Given the description of an element on the screen output the (x, y) to click on. 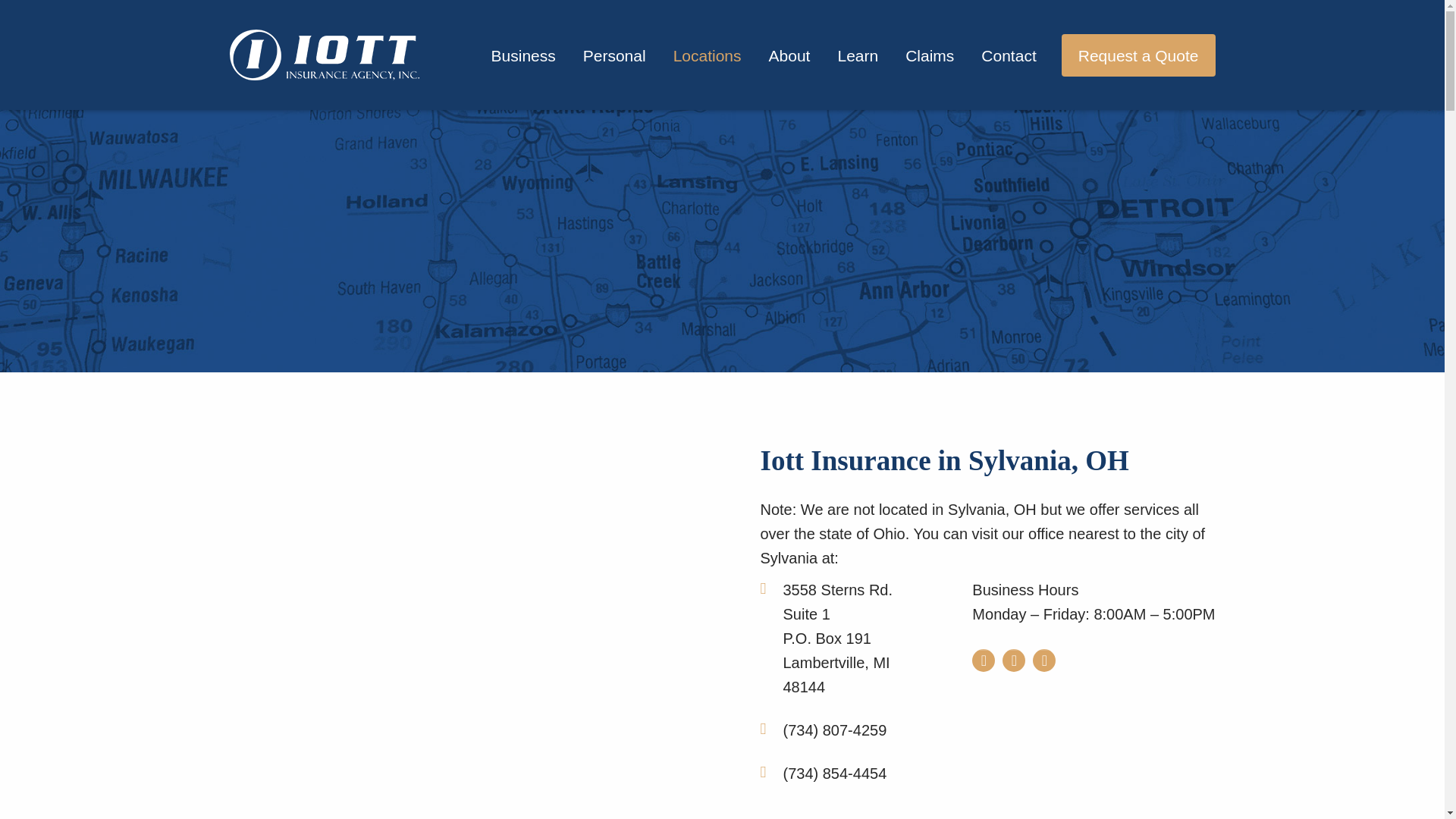
About (789, 55)
Request a Quote (1138, 55)
Learn (857, 55)
Contact (850, 638)
Locations (1008, 55)
Personal (707, 55)
Business (614, 55)
Claims (523, 55)
